Given the description of an element on the screen output the (x, y) to click on. 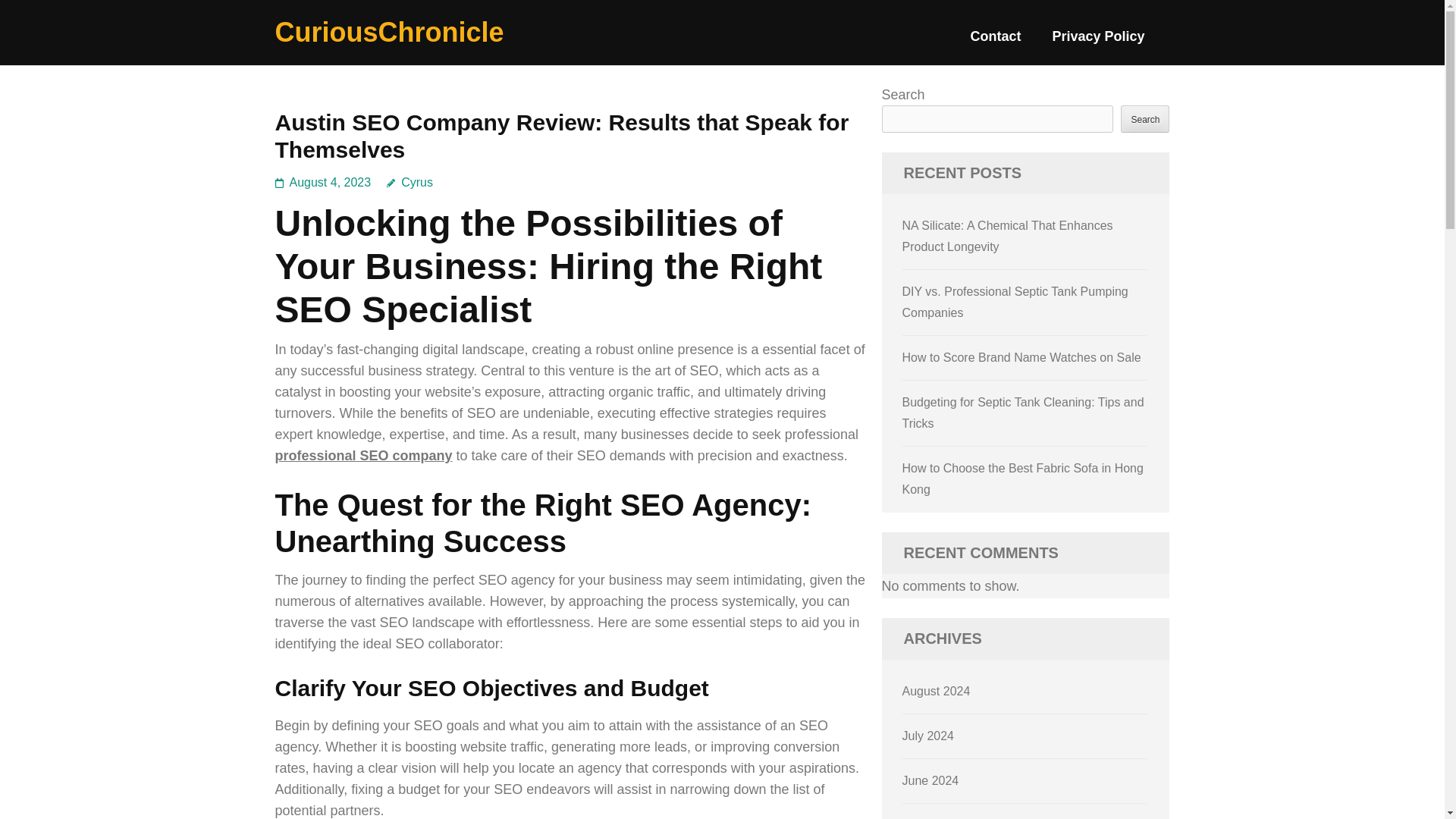
August 4, 2023 (330, 182)
Budgeting for Septic Tank Cleaning: Tips and Tricks (1023, 412)
Privacy Policy (1097, 42)
How to Score Brand Name Watches on Sale (1021, 357)
DIY vs. Professional Septic Tank Pumping Companies (1015, 302)
August 2024 (936, 690)
How to Choose the Best Fabric Sofa in Hong Kong (1022, 478)
Contact (994, 42)
professional SEO company (363, 455)
July 2024 (928, 735)
